Given the description of an element on the screen output the (x, y) to click on. 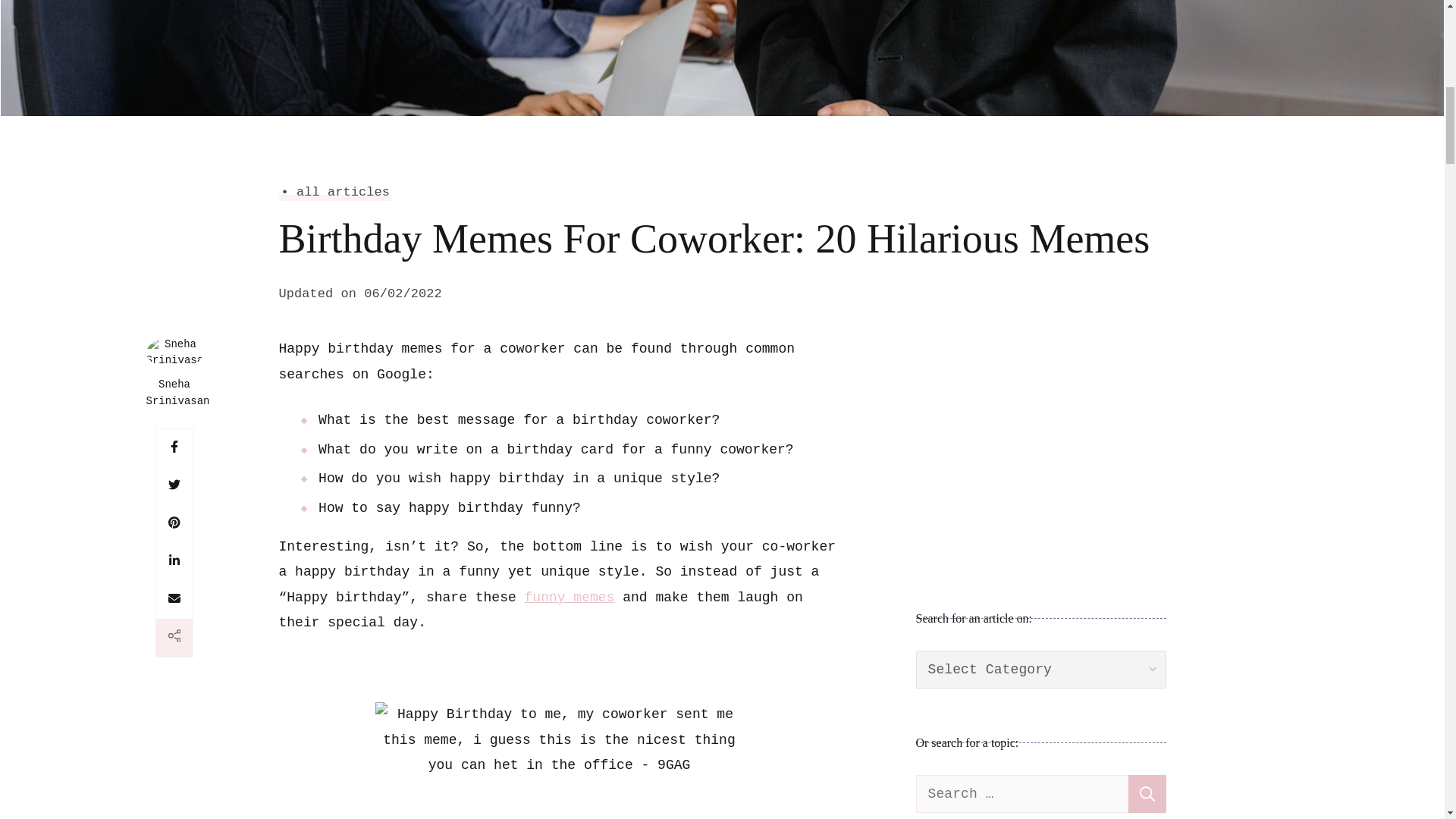
Search (1147, 793)
Search (1147, 793)
